Given the description of an element on the screen output the (x, y) to click on. 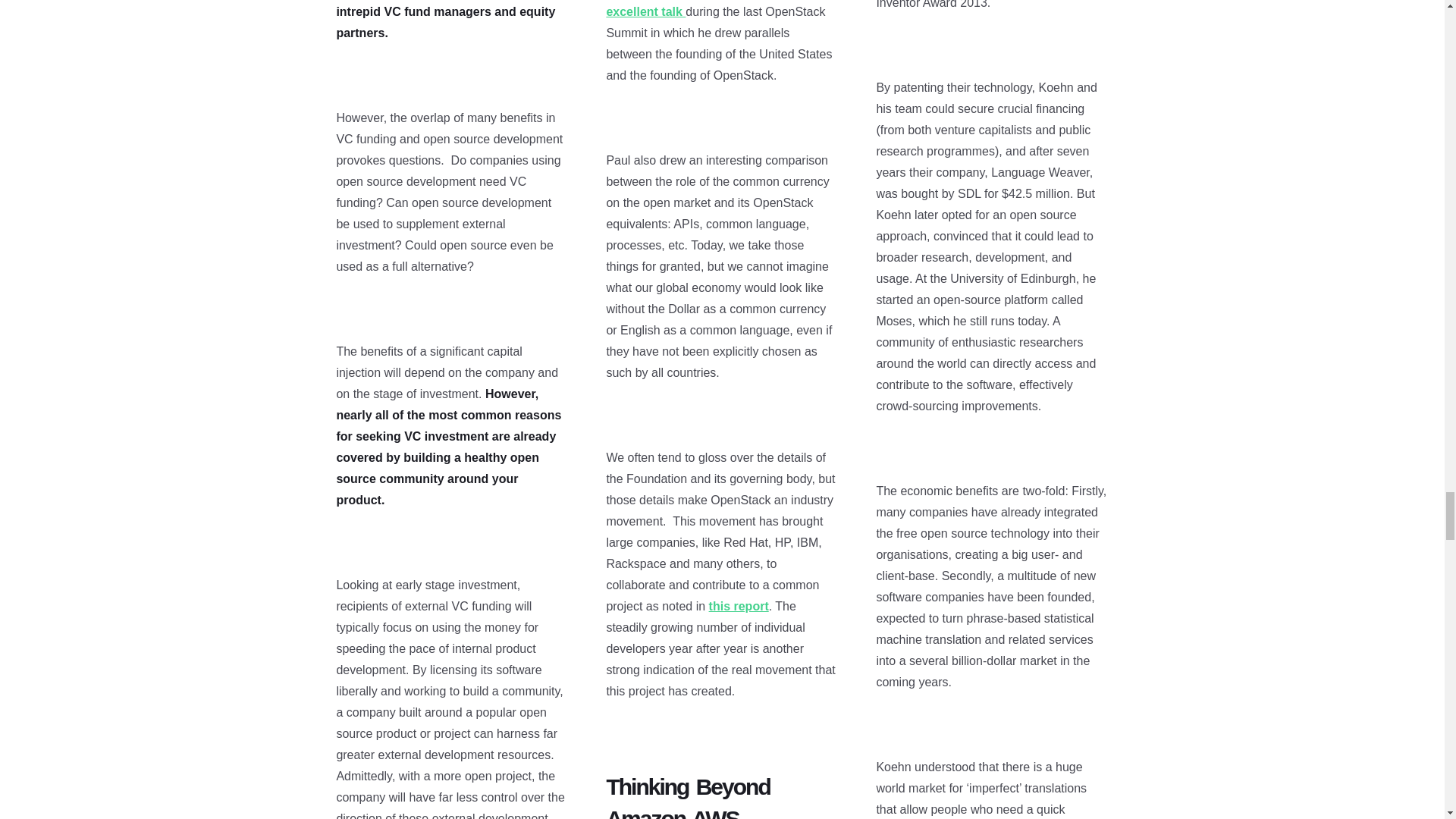
excellent talk (645, 11)
this report (738, 605)
